Given the description of an element on the screen output the (x, y) to click on. 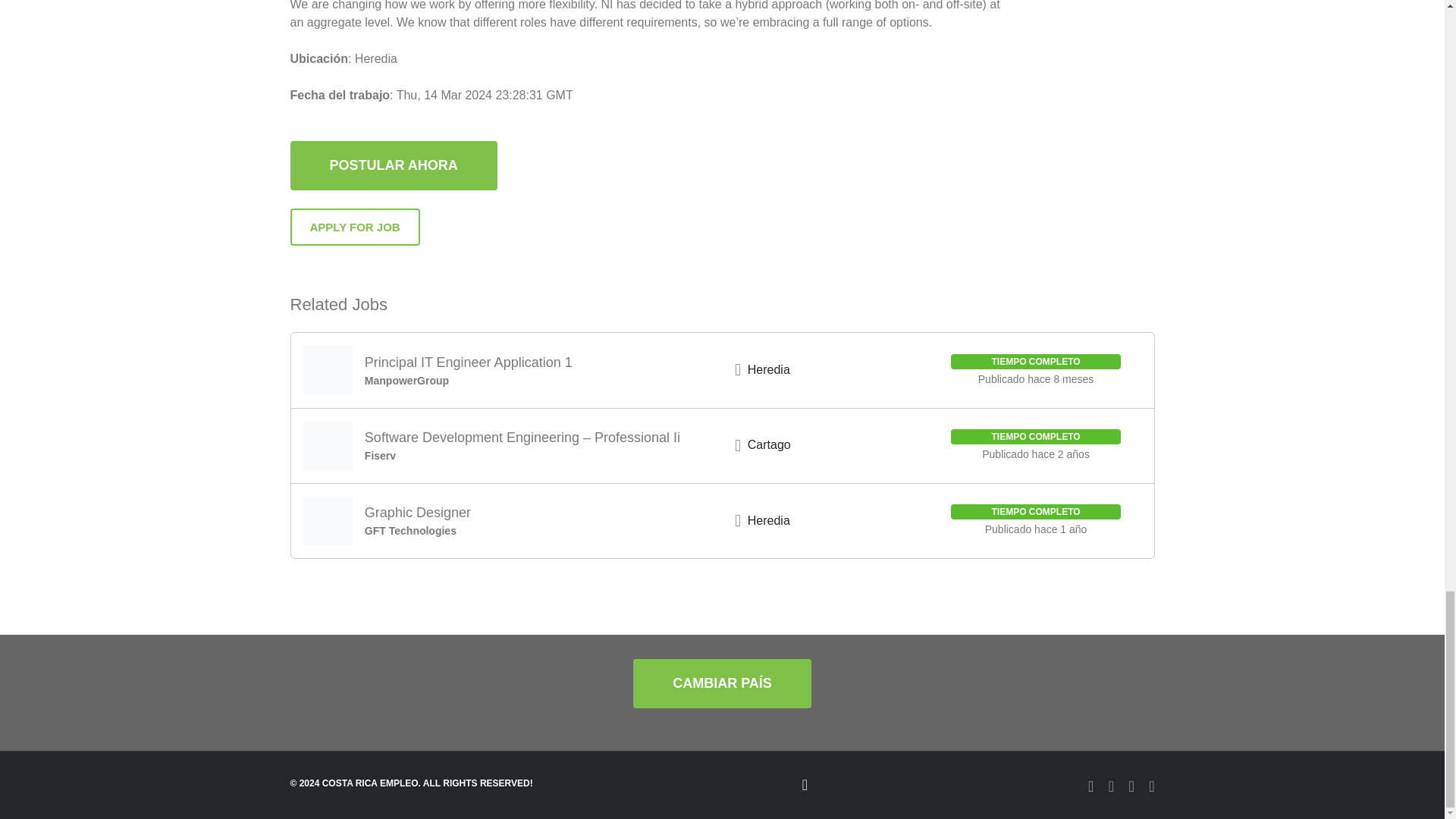
POSTULAR AHORA (392, 165)
POSTULAR AHORA (392, 182)
Heredia (769, 369)
APPLY FOR JOB (354, 226)
